Given the description of an element on the screen output the (x, y) to click on. 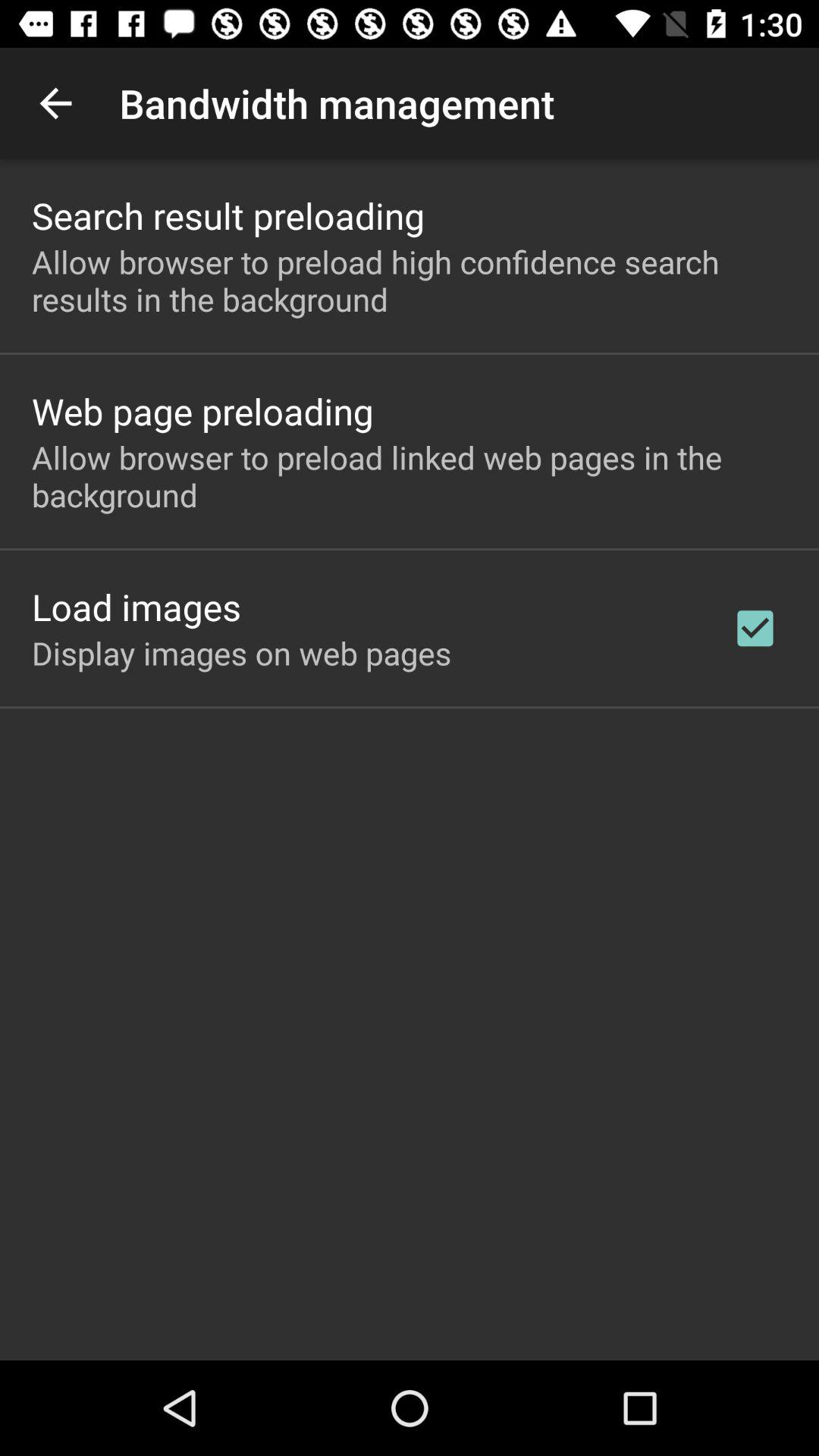
choose app next to the bandwidth management item (55, 103)
